Given the description of an element on the screen output the (x, y) to click on. 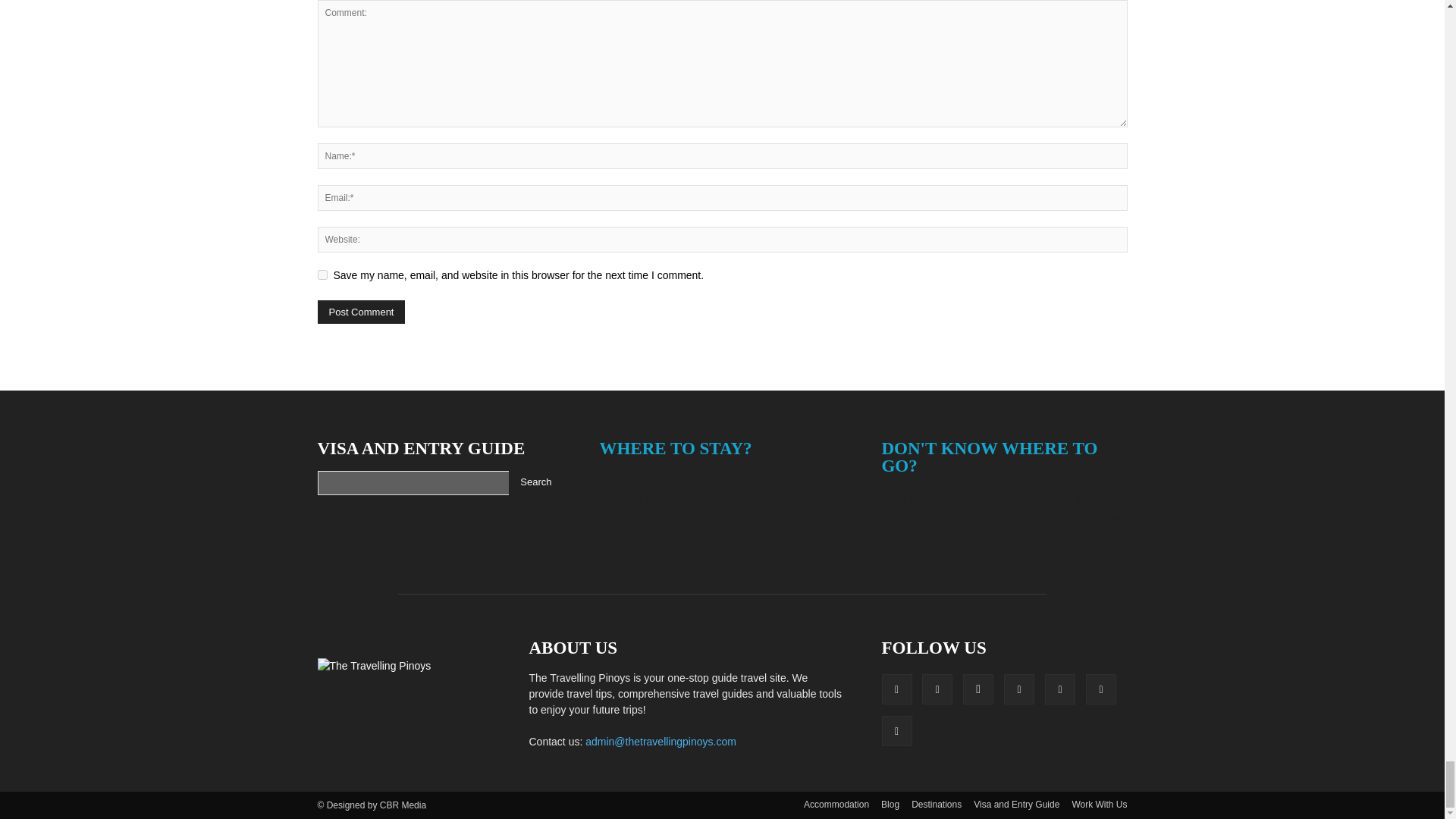
Search (535, 482)
Post Comment (360, 311)
yes (321, 275)
